Given the description of an element on the screen output the (x, y) to click on. 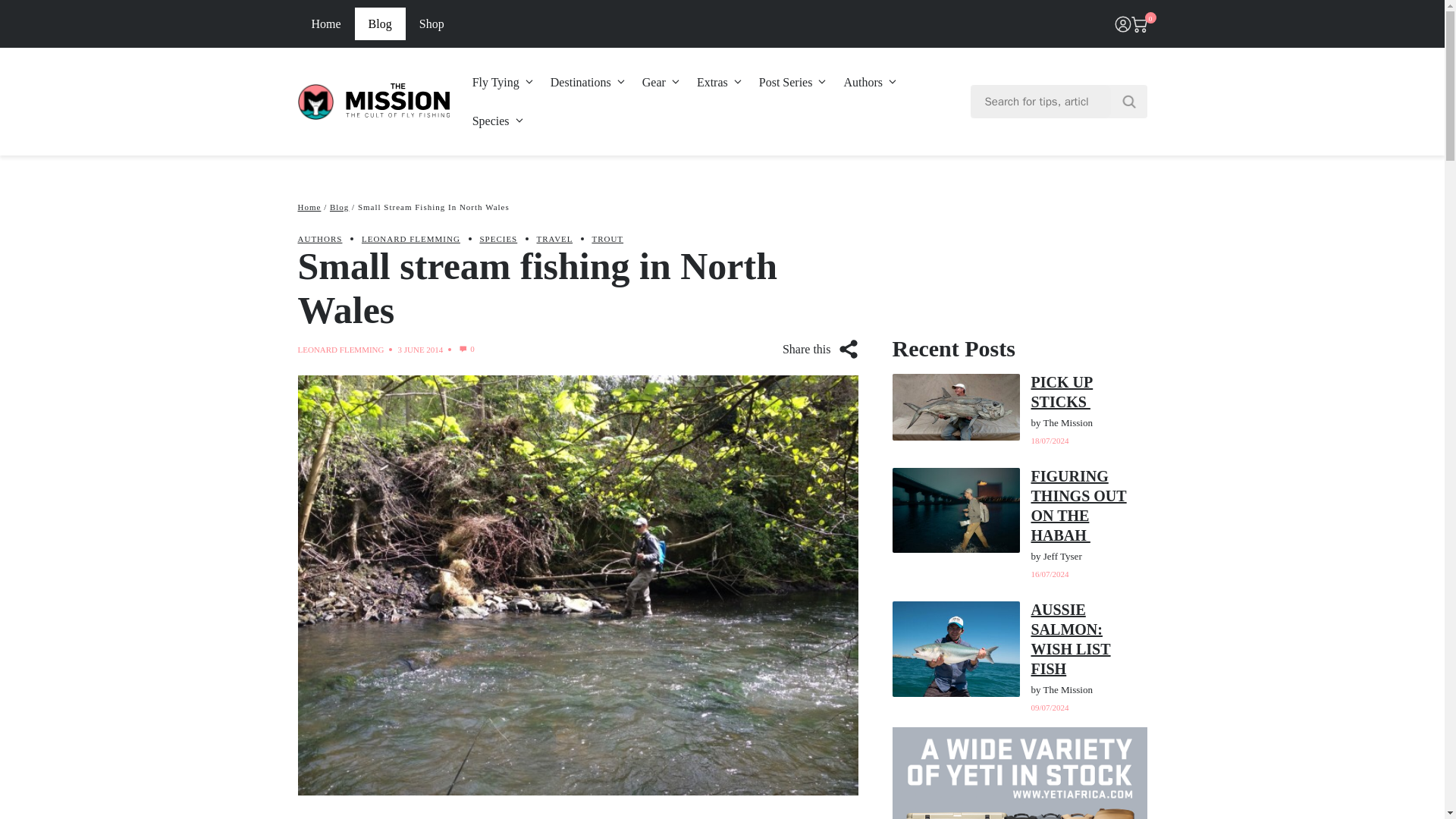
Destinations (588, 82)
0 (1139, 24)
Blog (380, 23)
Fly Tying (503, 82)
0 (466, 349)
Shop (432, 23)
Home (325, 23)
